Given the description of an element on the screen output the (x, y) to click on. 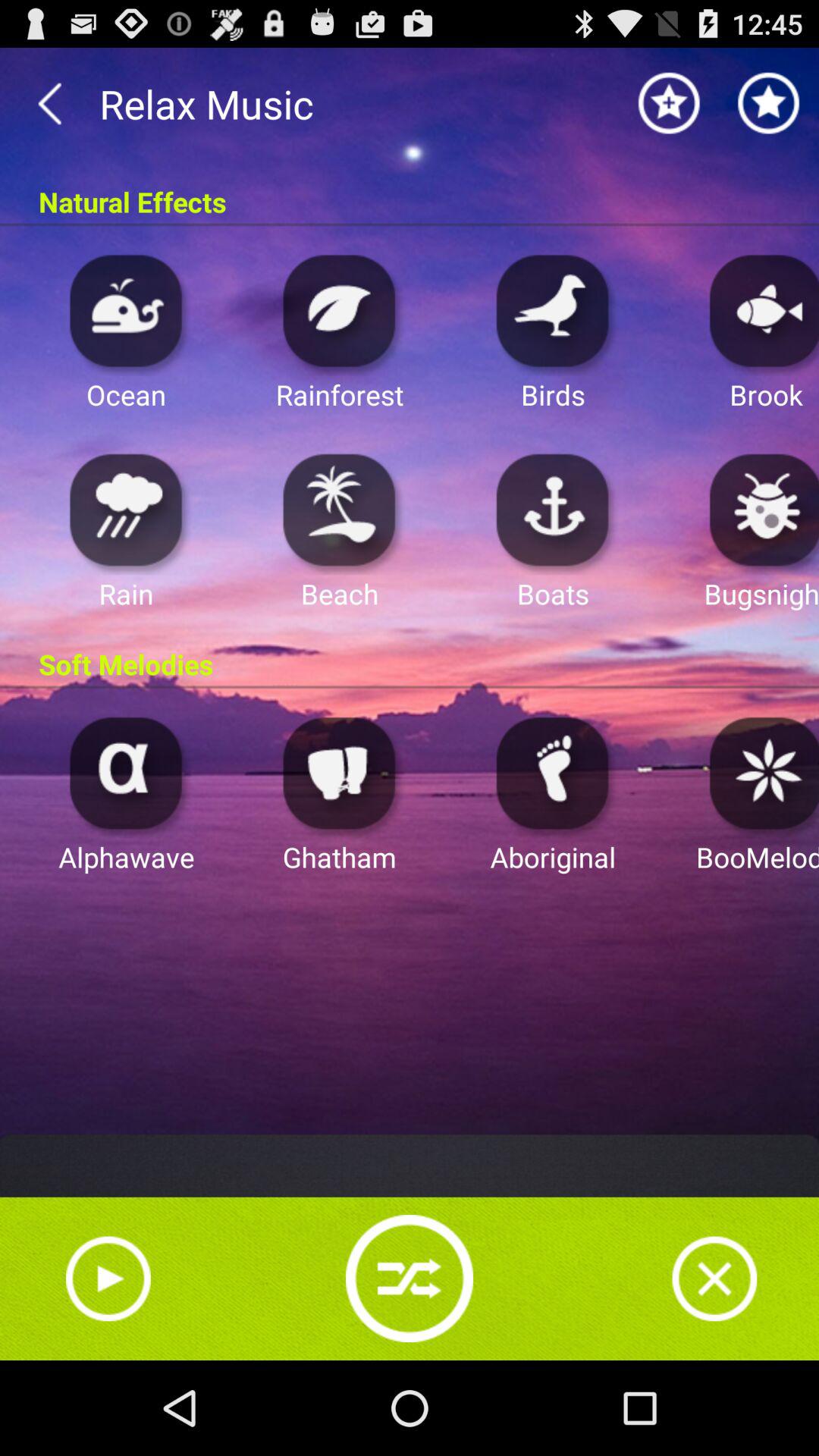
ocean music (126, 309)
